Given the description of an element on the screen output the (x, y) to click on. 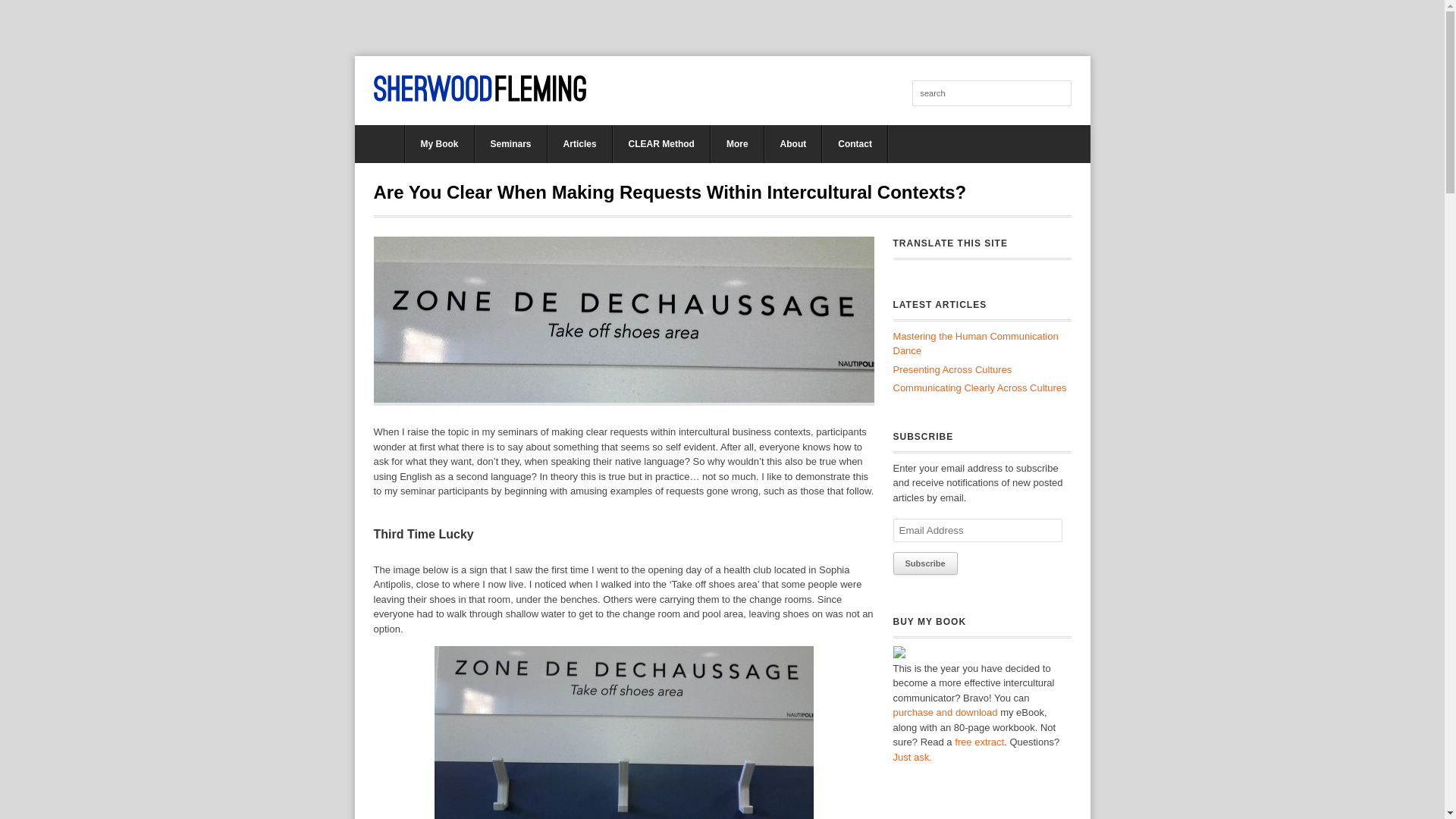
Seminars (510, 143)
Presenting Across Cultures (952, 369)
free extract (979, 741)
My Book (439, 143)
Articles (579, 143)
search (990, 93)
purchase and download (945, 712)
Contact (855, 143)
Communicating Clearly Across Cultures (980, 387)
Mastering the Human Communication Dance (975, 343)
Sherwood Fleming's Intercultural Communication Insights (478, 88)
Home (379, 143)
Subscribe (925, 563)
More (737, 143)
